Given the description of an element on the screen output the (x, y) to click on. 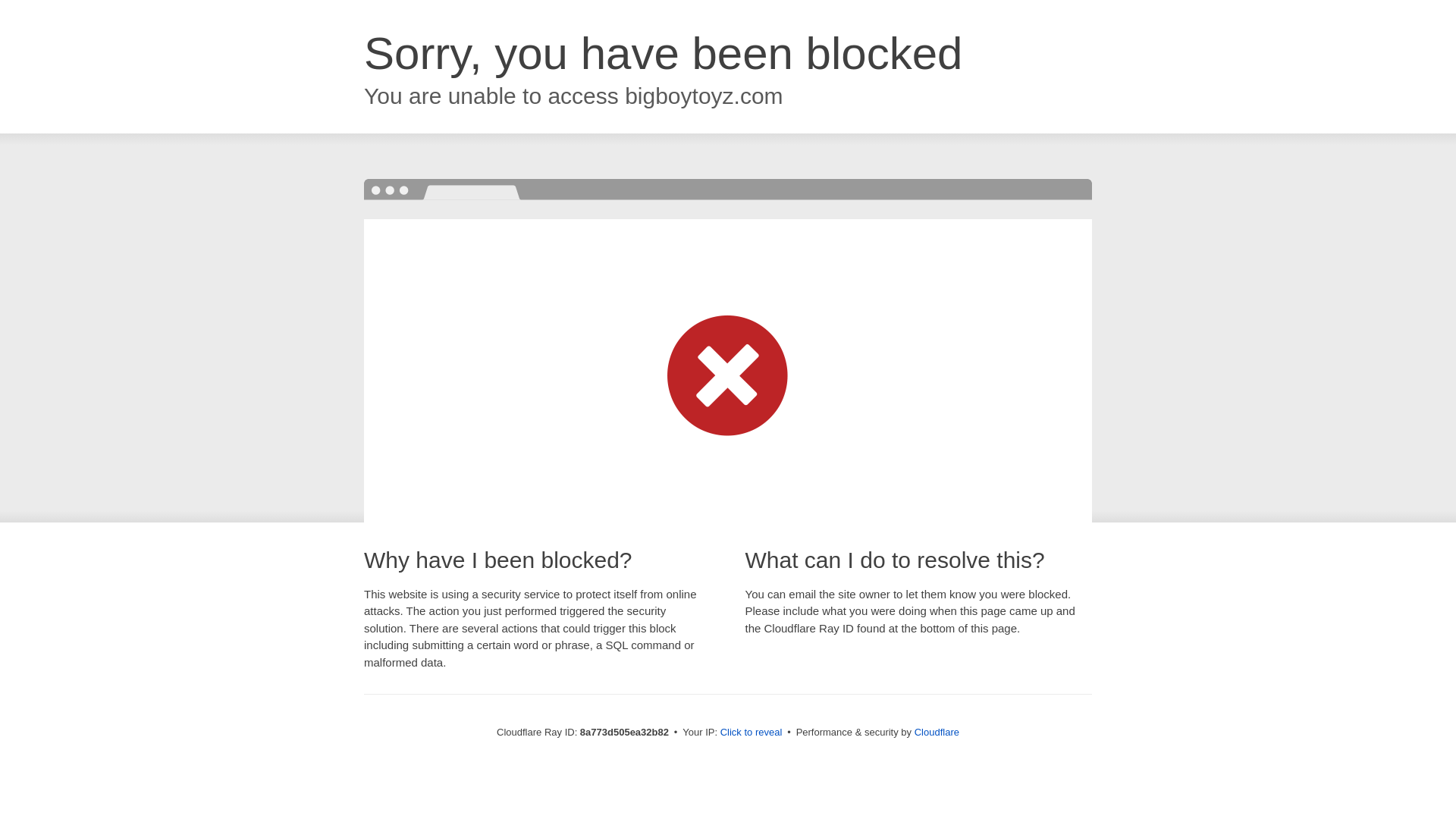
Cloudflare (936, 731)
Click to reveal (751, 732)
